Given the description of an element on the screen output the (x, y) to click on. 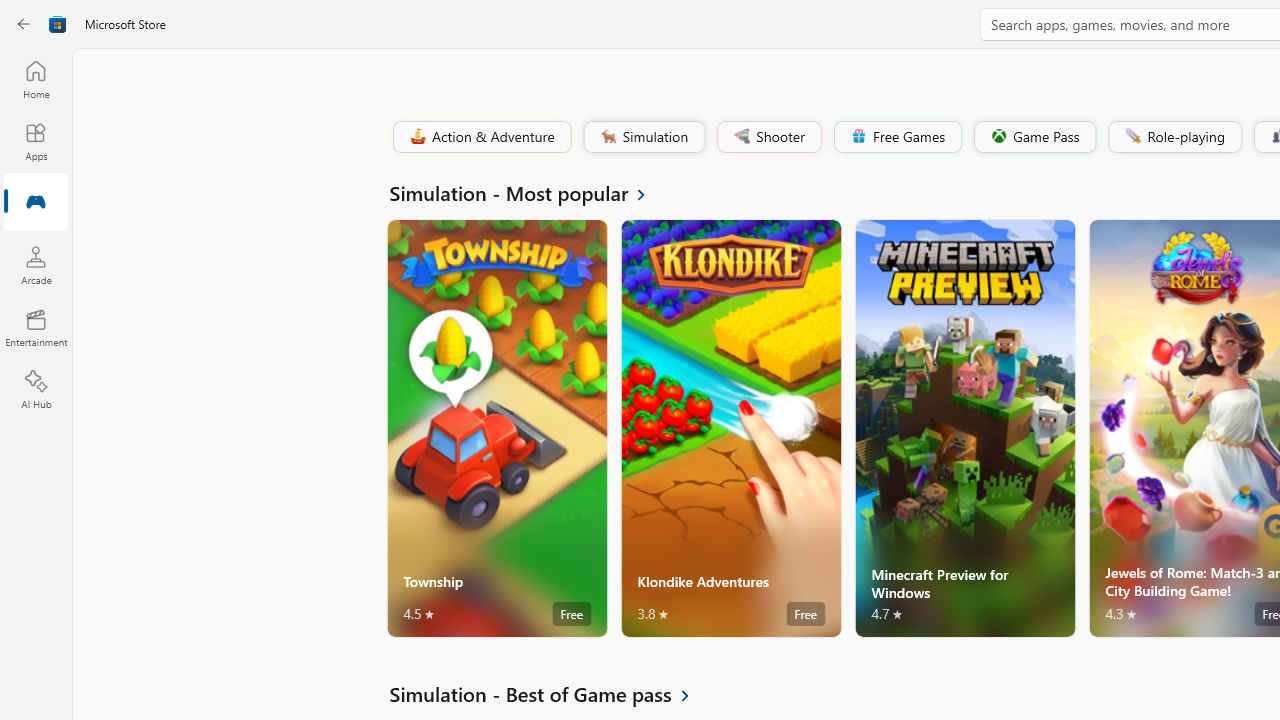
Action & Adventure (480, 136)
Arcade (35, 265)
Free Games (897, 136)
Role-playing (1174, 136)
